Given the description of an element on the screen output the (x, y) to click on. 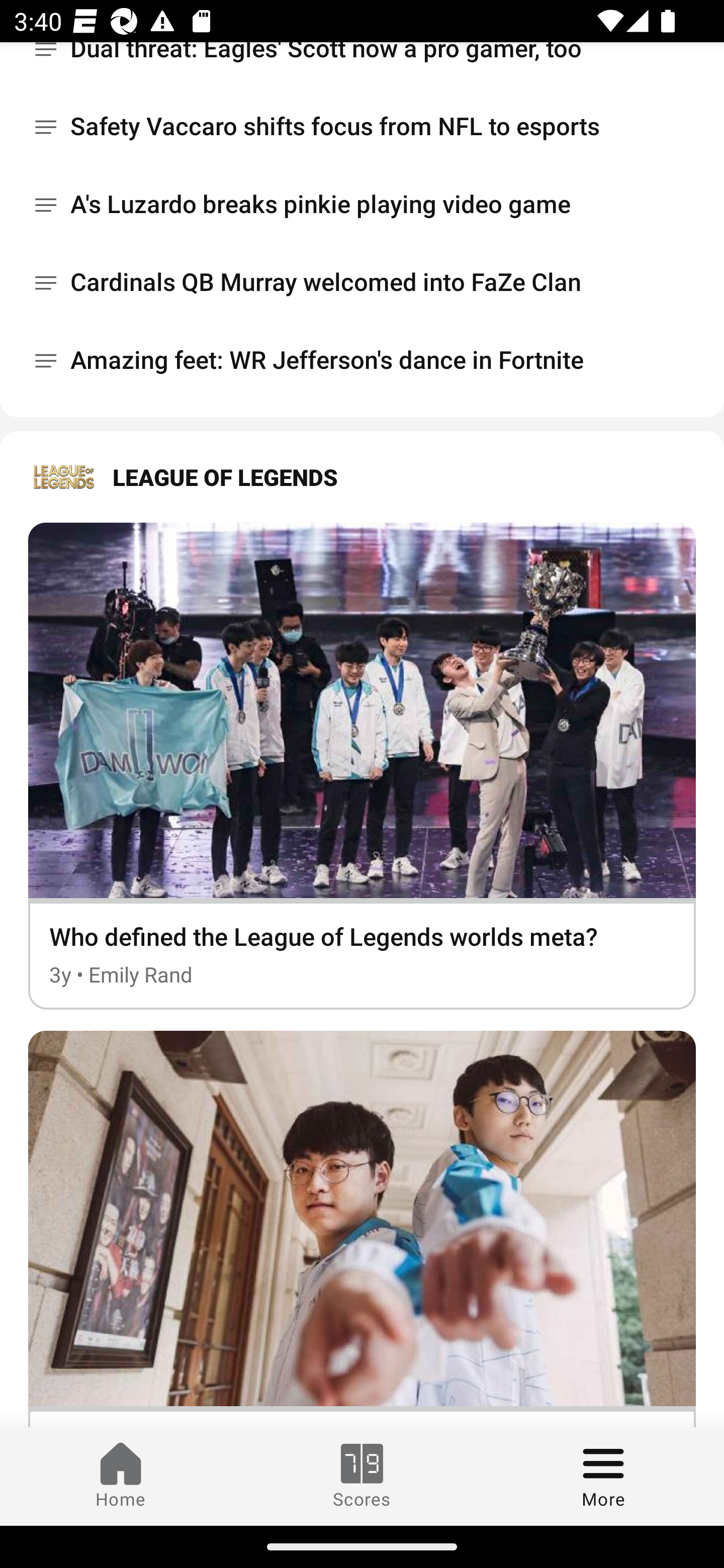
 Dual threat: Eagles' Scott now a pro gamer, too (362, 64)
 Safety Vaccaro shifts focus from NFL to esports (362, 126)
 A's Luzardo breaks pinkie playing video game (362, 204)
 Cardinals QB Murray welcomed into FaZe Clan (362, 282)
 Amazing feet: WR Jefferson's dance in Fortnite (362, 360)
Home (120, 1475)
Scores (361, 1475)
